Given the description of an element on the screen output the (x, y) to click on. 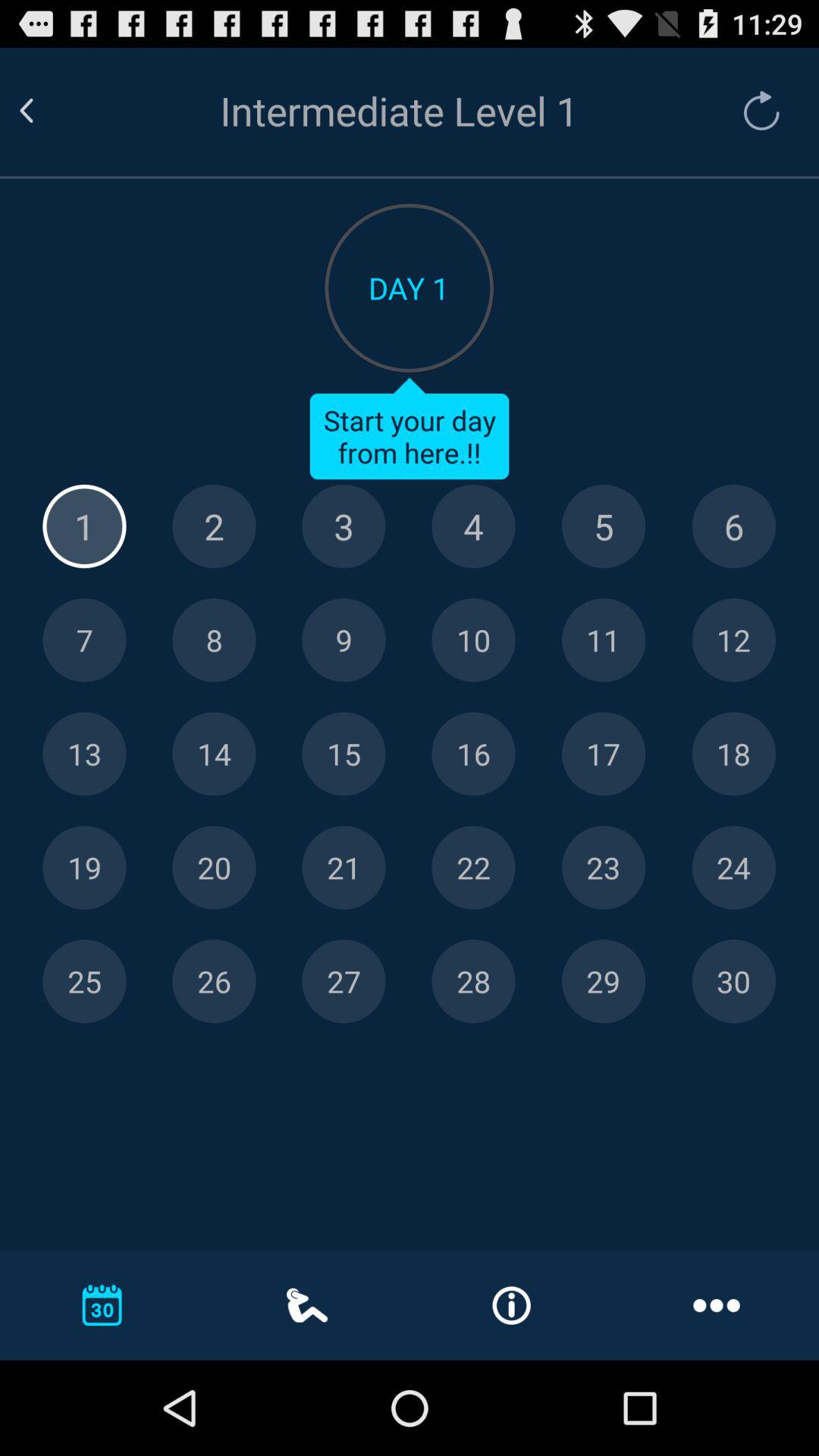
click day of the week (603, 526)
